Given the description of an element on the screen output the (x, y) to click on. 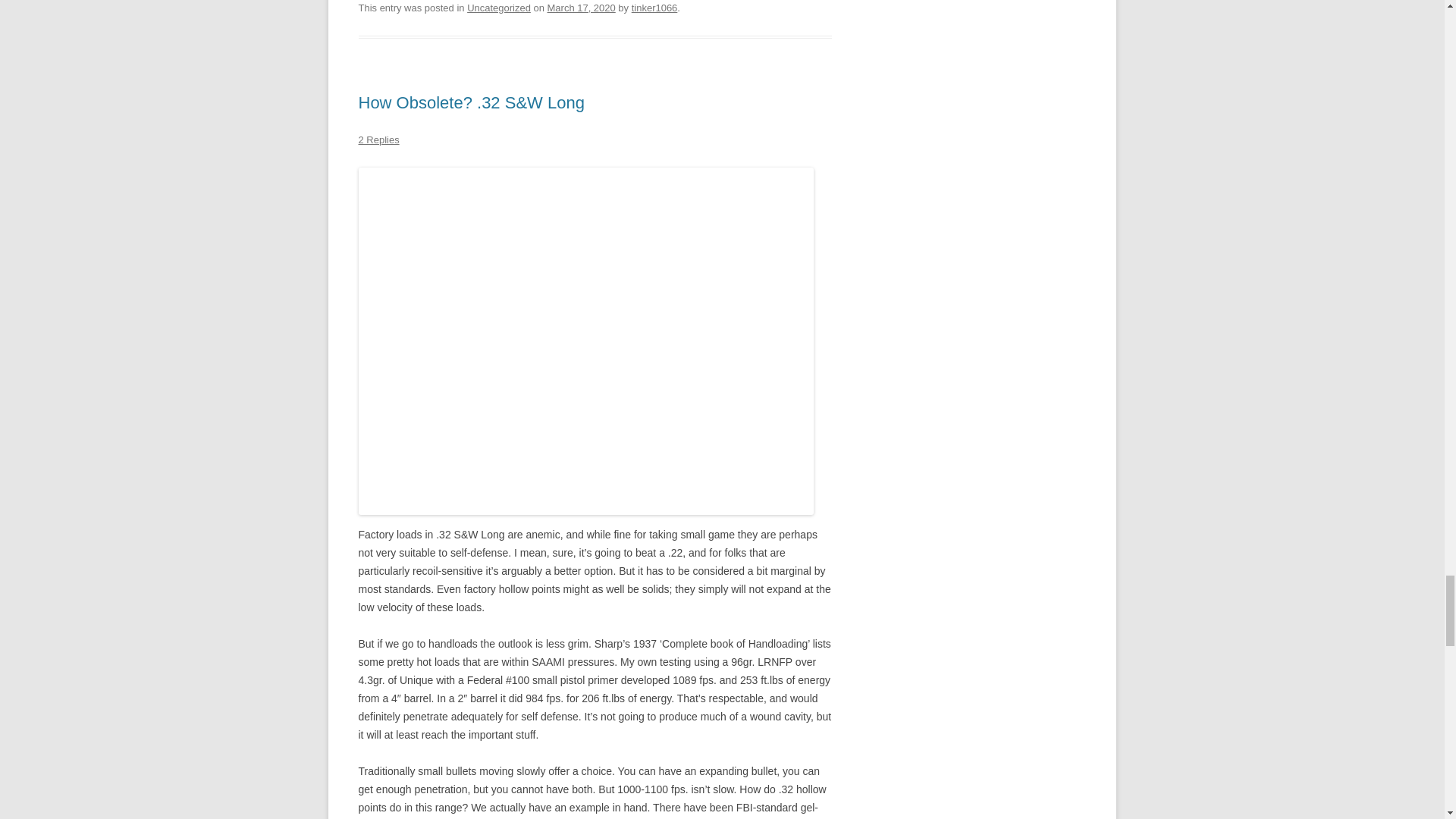
March 17, 2020 (581, 7)
Uncategorized (499, 7)
View all posts by tinker1066 (654, 7)
tinker1066 (654, 7)
9:51 pm (581, 7)
2 Replies (378, 139)
